Given the description of an element on the screen output the (x, y) to click on. 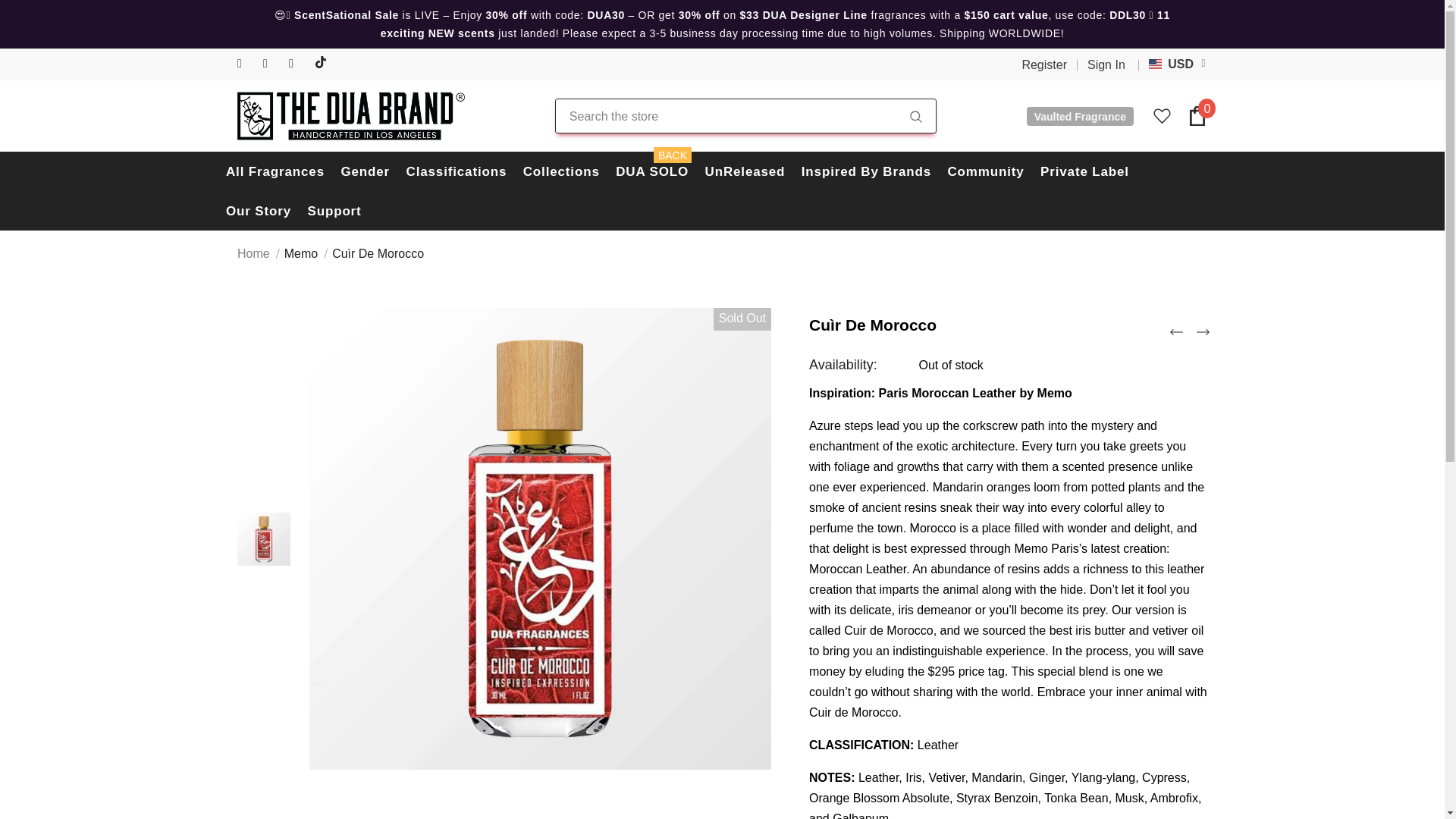
Sign In (1101, 65)
YouTube (297, 63)
Instagram (272, 63)
Logo (350, 115)
Facebook (246, 63)
Register (1044, 65)
Tiktok (323, 63)
